Given the description of an element on the screen output the (x, y) to click on. 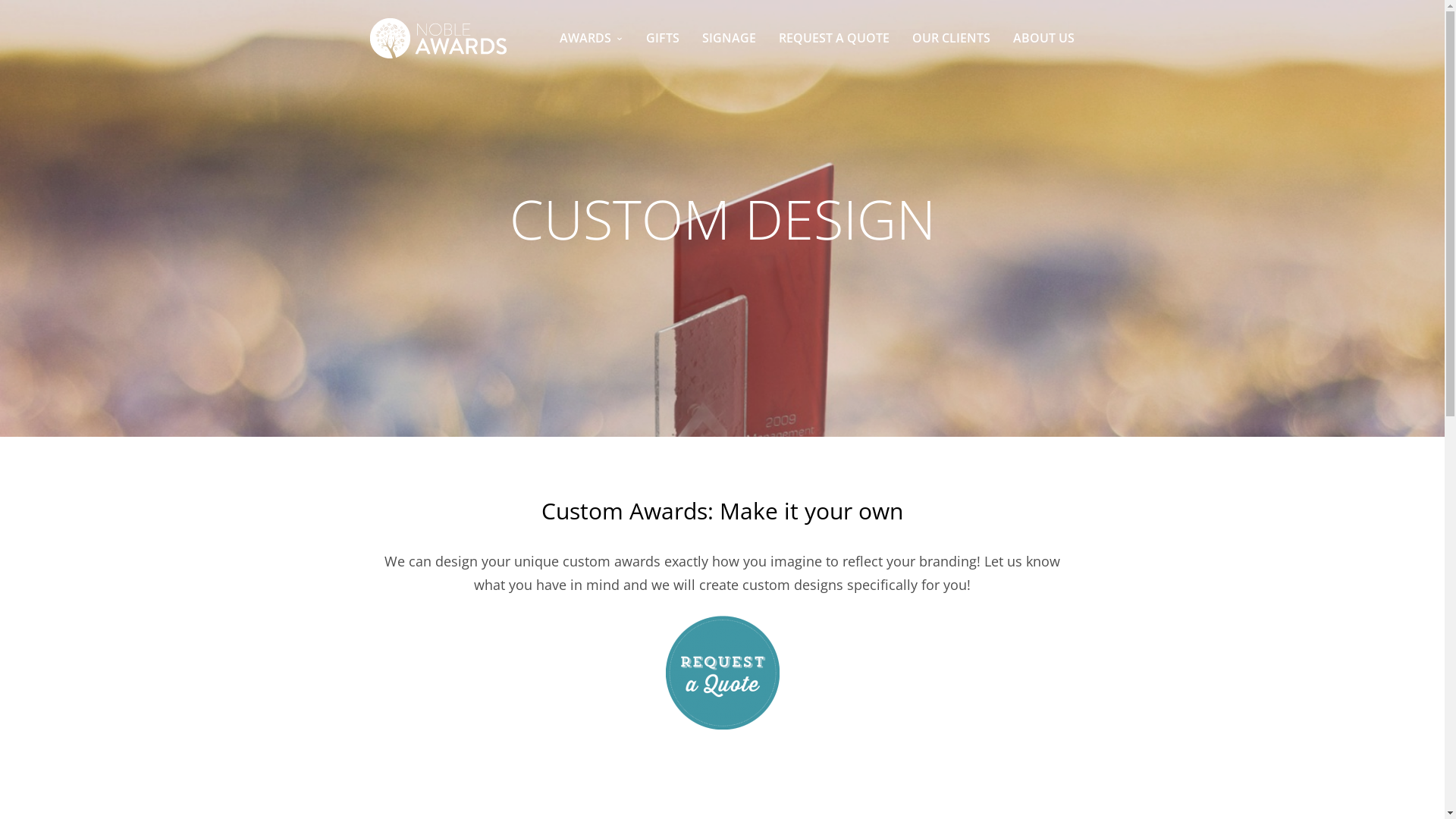
GIFTS Element type: text (662, 37)
ABOUT US Element type: text (1043, 37)
OUR CLIENTS Element type: text (951, 37)
Noble Awards Element type: hover (438, 38)
REQUEST A QUOTE Element type: text (833, 37)
AWARDS Element type: text (591, 37)
SIGNAGE Element type: text (729, 37)
